Given the description of an element on the screen output the (x, y) to click on. 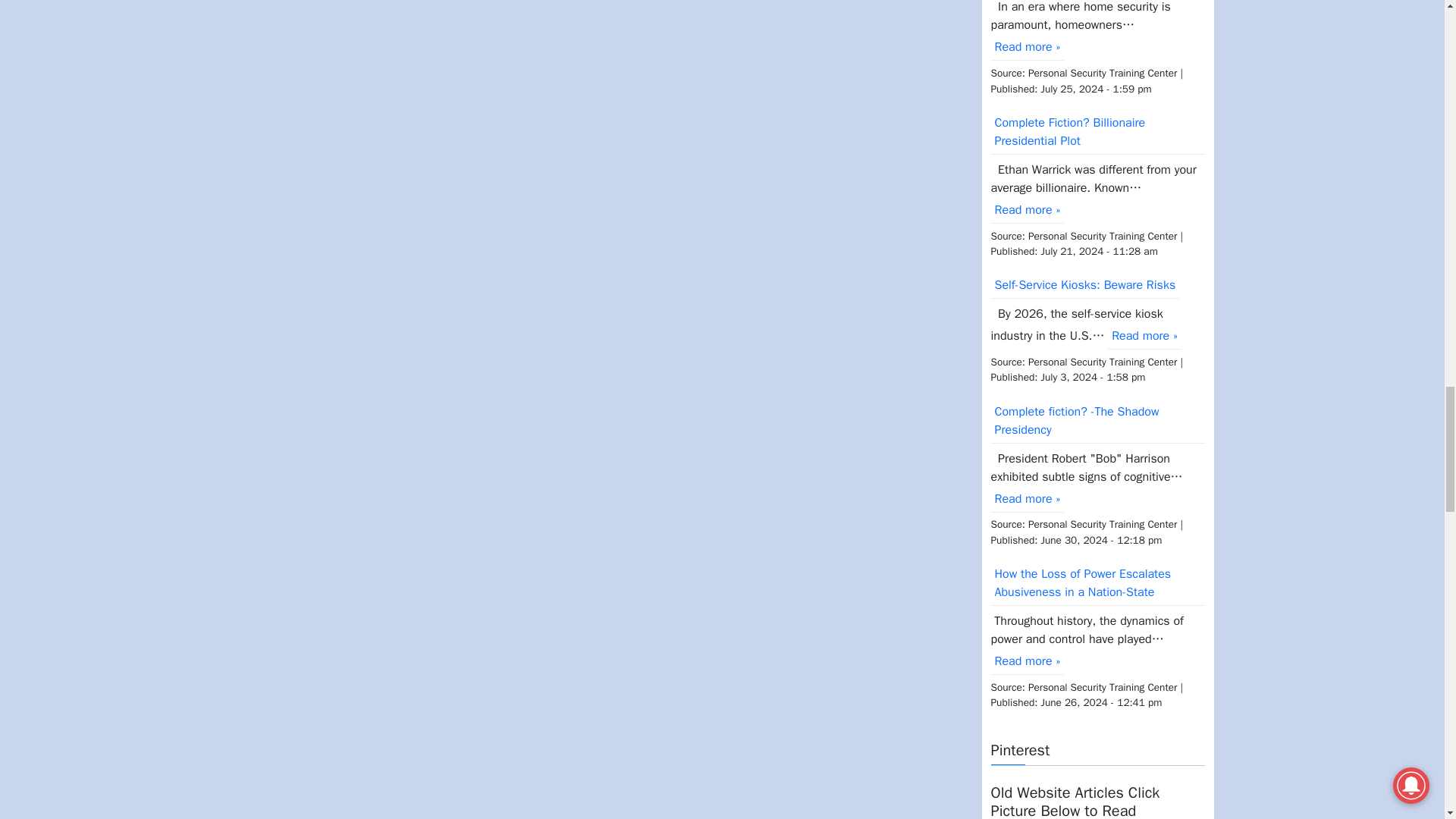
Complete Fiction? Billionaire Presidential Plot (1027, 210)
Dooricade Door Security Bar (1027, 47)
Complete Fiction? Billionaire Presidential Plot (1097, 131)
Self-Service Kiosks: Beware Risks (1084, 284)
Complete Fiction? Billionaire Presidential Plot (1097, 131)
